Given the description of an element on the screen output the (x, y) to click on. 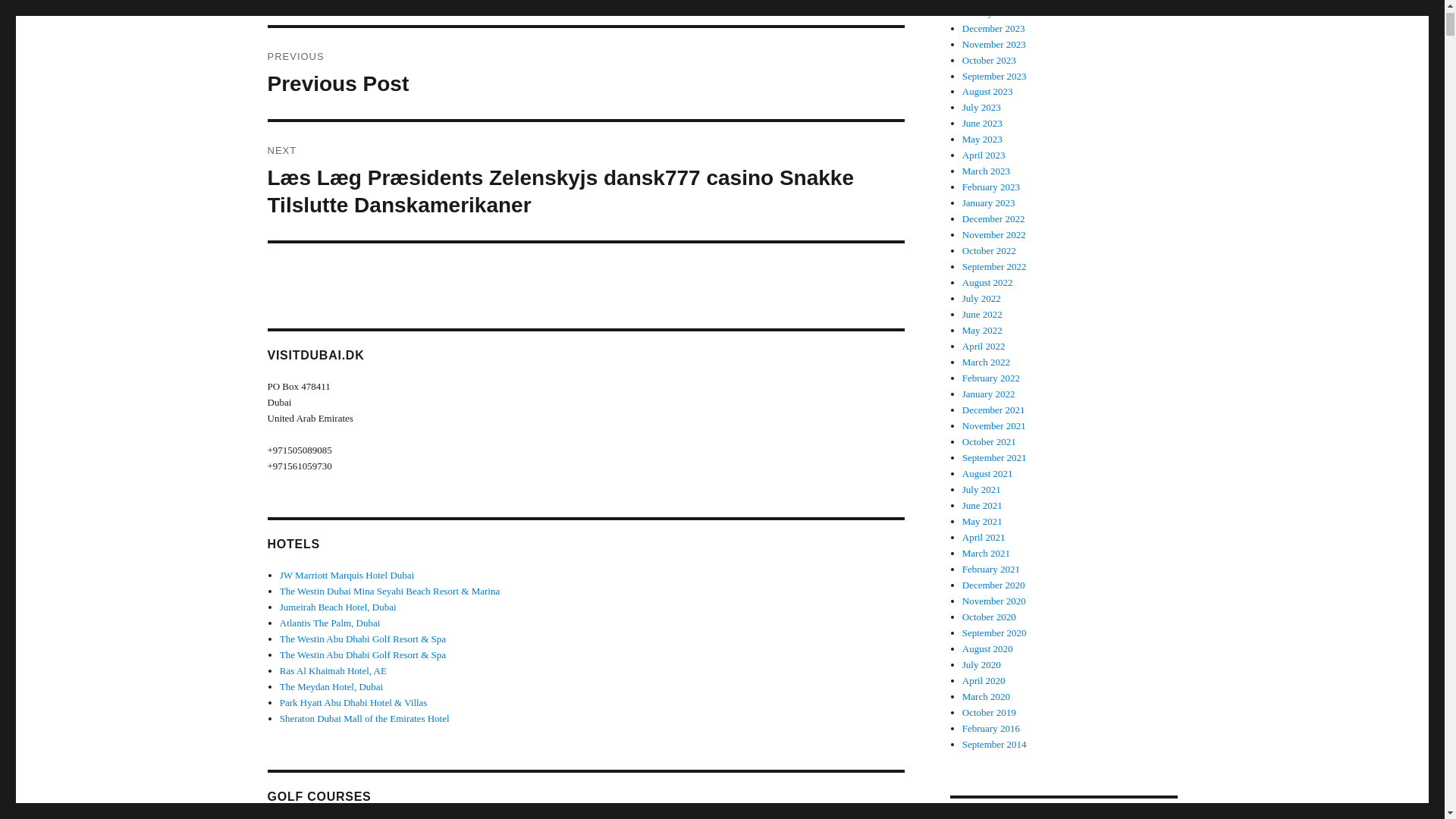
Sheraton Dubai Mall of the Emirates Hotel (364, 717)
JW Marriott Marquis Hotel Dubai (346, 574)
Jumeirah Beach Hotel, Dubai (585, 72)
Ras Al Khaimah Hotel, AE (337, 606)
The Meydan Hotel, Dubai (333, 670)
Atlantis The Palm, Dubai (330, 686)
